Given the description of an element on the screen output the (x, y) to click on. 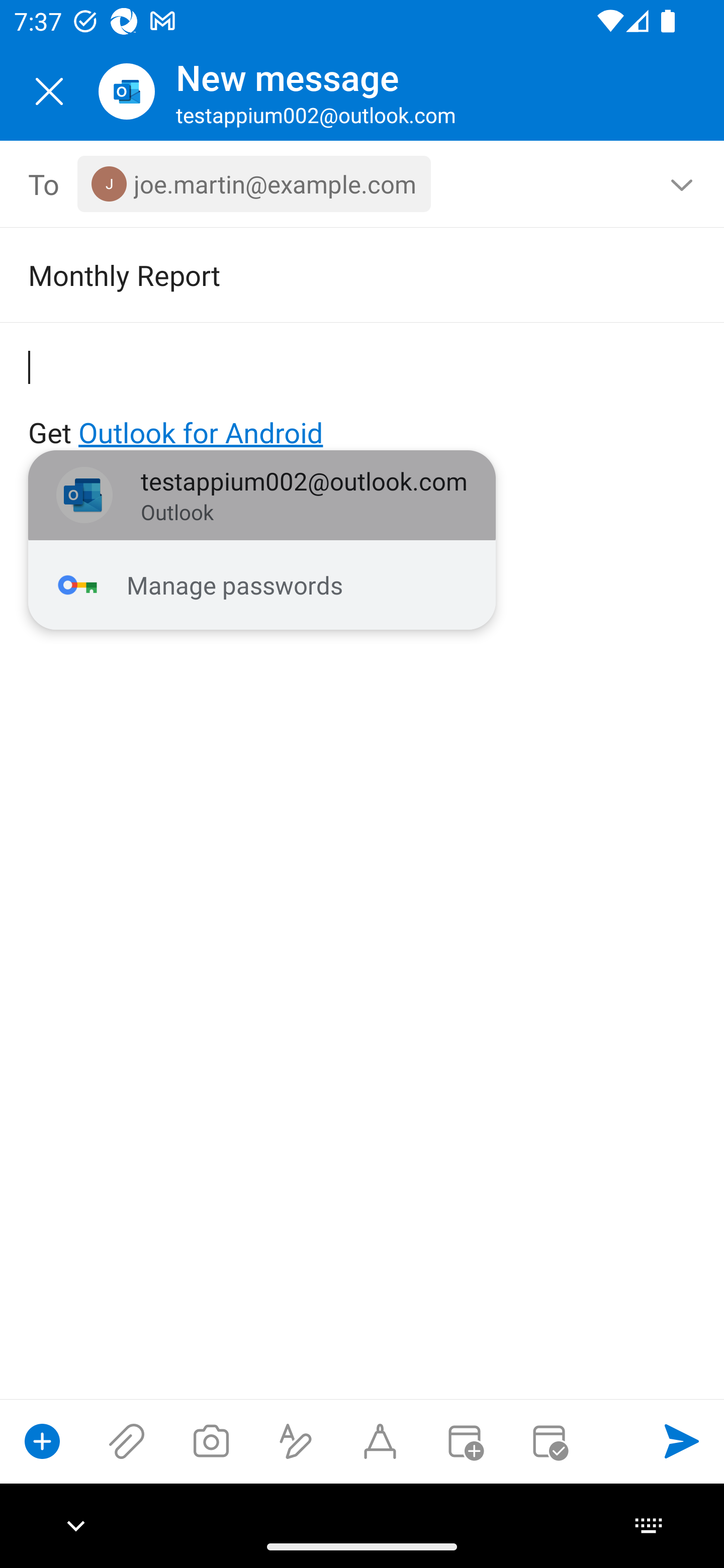
Outlook testappium002@outlook.com Outlook (261, 495)
Google Password Manager Manage passwords (261, 585)
